Given the description of an element on the screen output the (x, y) to click on. 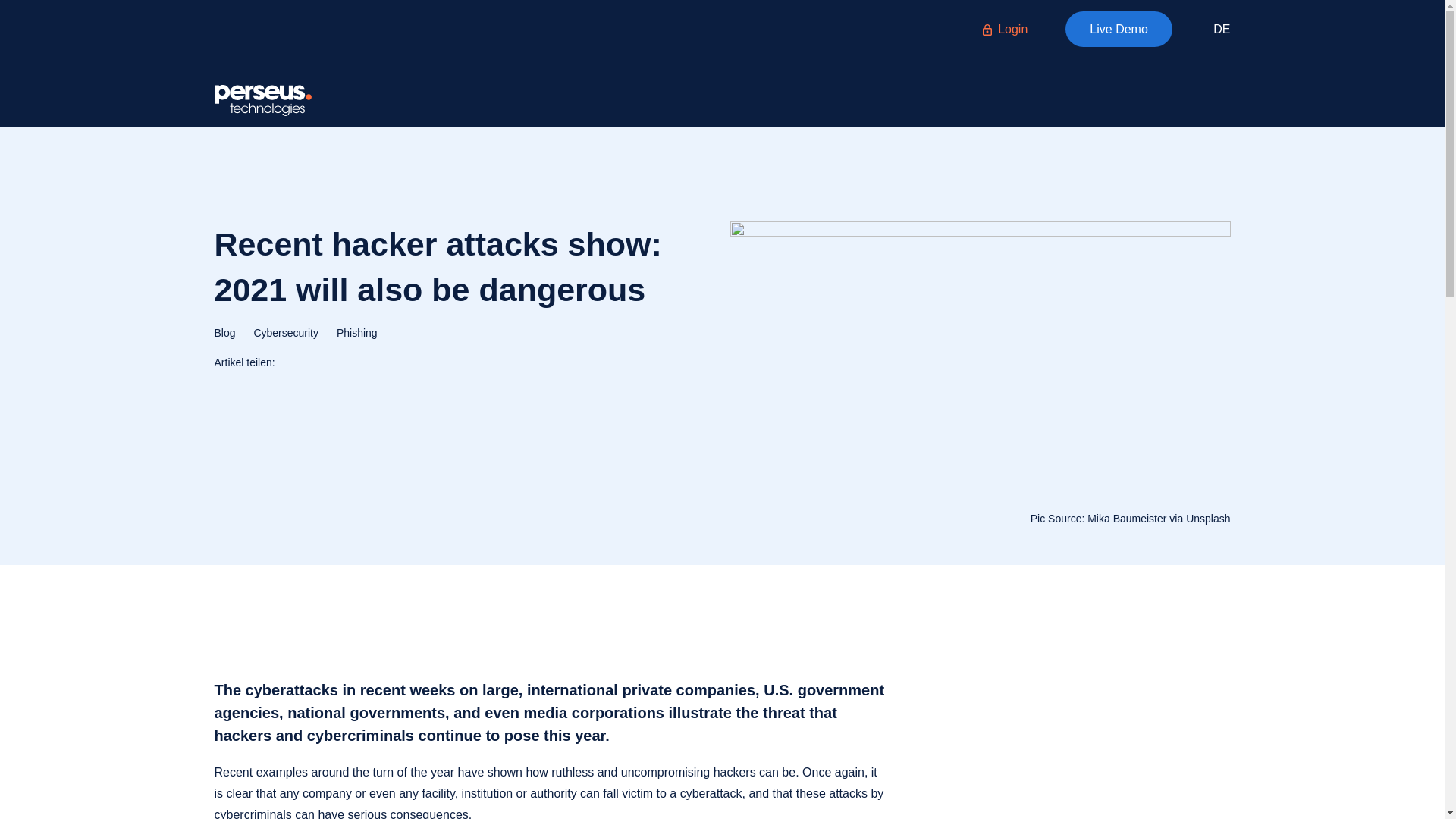
Live Demo (1118, 28)
Login (1004, 29)
Perseus (262, 100)
DE (1221, 29)
